Given the description of an element on the screen output the (x, y) to click on. 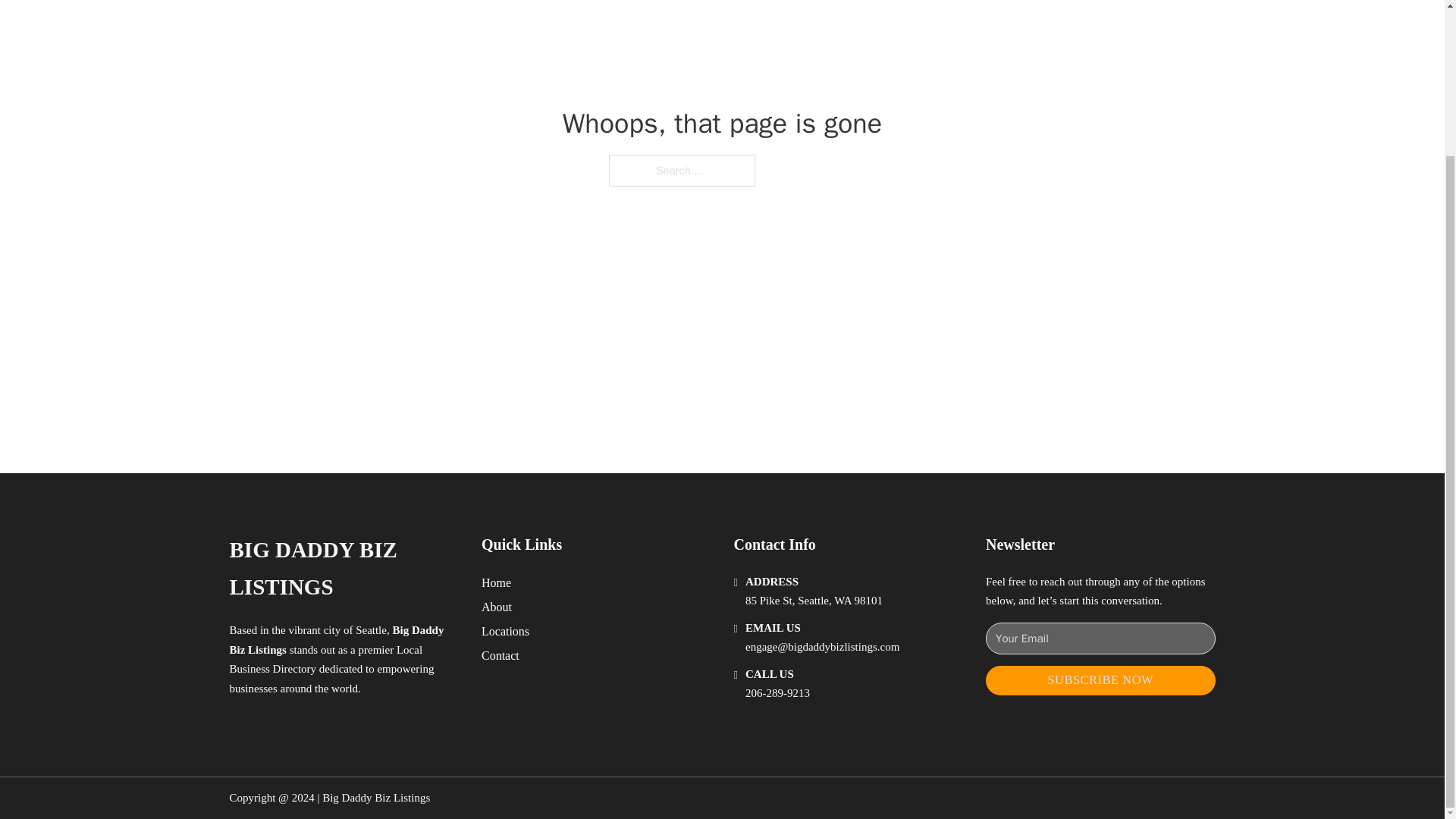
Home (496, 582)
Contact (500, 655)
About (496, 607)
206-289-9213 (777, 693)
SUBSCRIBE NOW (1100, 680)
BIG DADDY BIZ LISTINGS (343, 568)
Locations (505, 630)
